Given the description of an element on the screen output the (x, y) to click on. 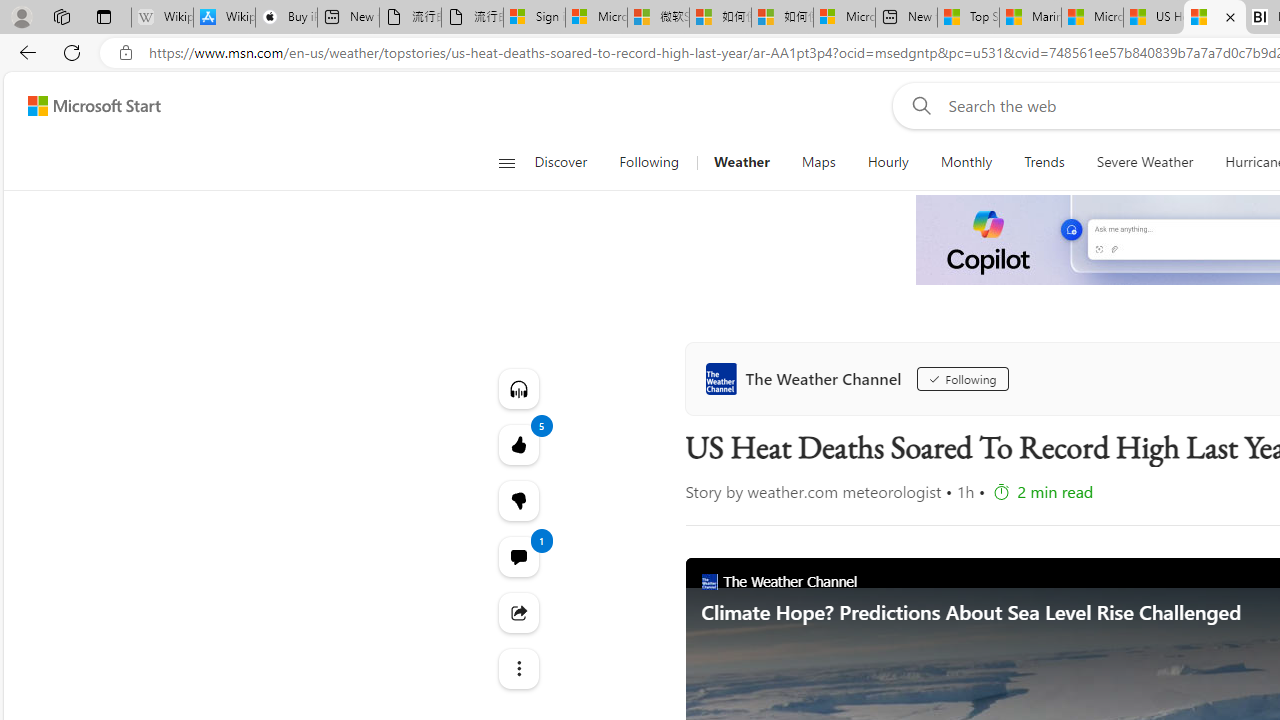
Hourly (887, 162)
Microsoft Services Agreement (596, 17)
Hourly (888, 162)
Microsoft account | Account Checkup (844, 17)
Listen to this article (517, 388)
Discover (568, 162)
Class: at-item (517, 668)
Microsoft Start (1092, 17)
The Weather Channel (807, 378)
Trends (1044, 162)
Maps (818, 162)
Monthly (966, 162)
Close tab (1230, 16)
Maps (818, 162)
